Given the description of an element on the screen output the (x, y) to click on. 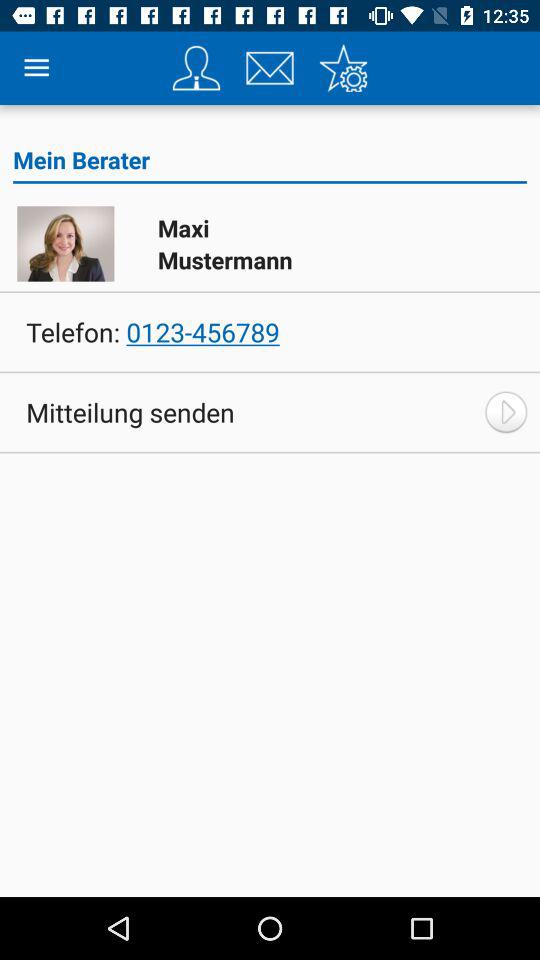
choose item above the mein berater icon (269, 67)
